Given the description of an element on the screen output the (x, y) to click on. 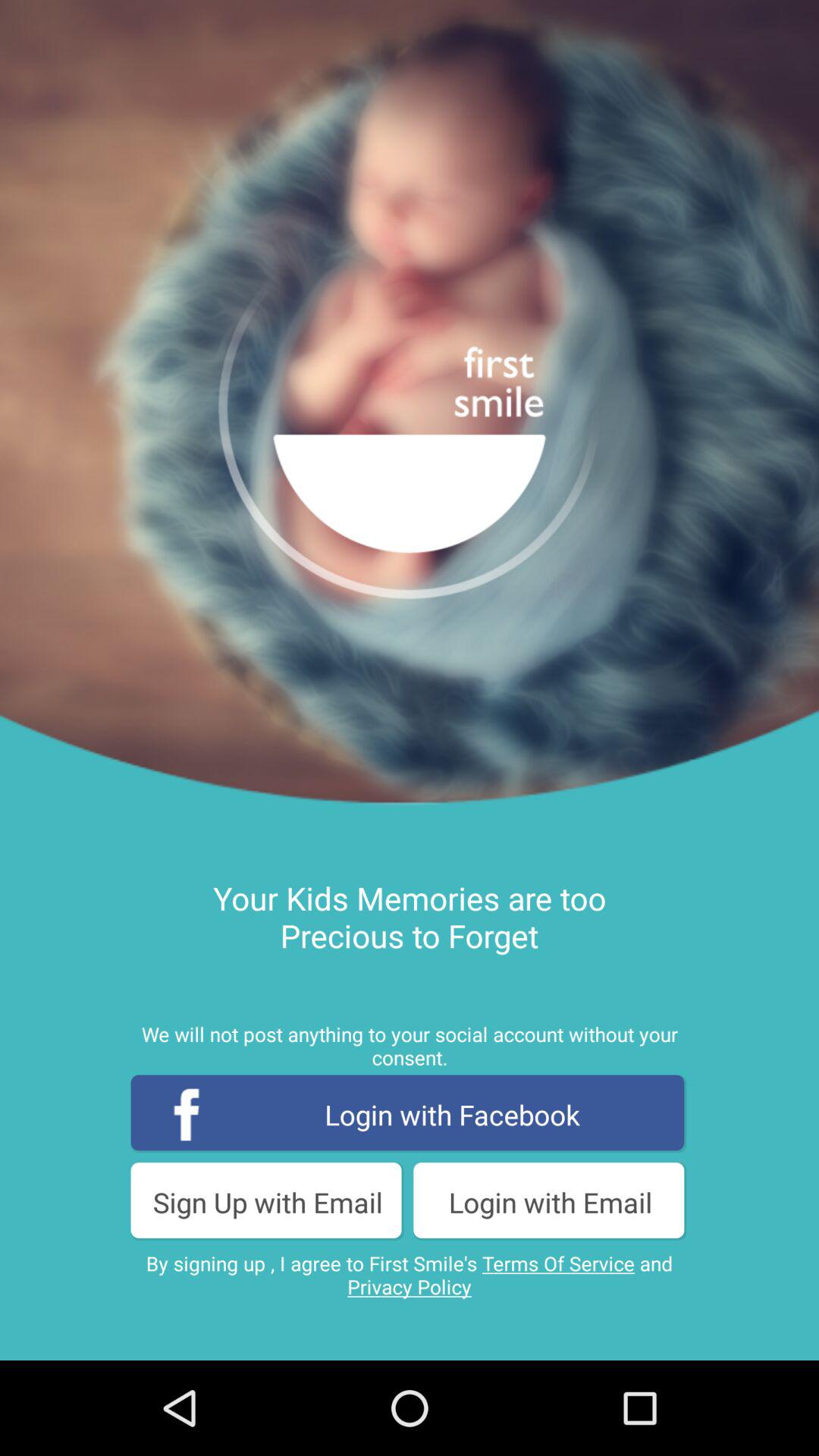
swipe until the sign up with item (267, 1202)
